Given the description of an element on the screen output the (x, y) to click on. 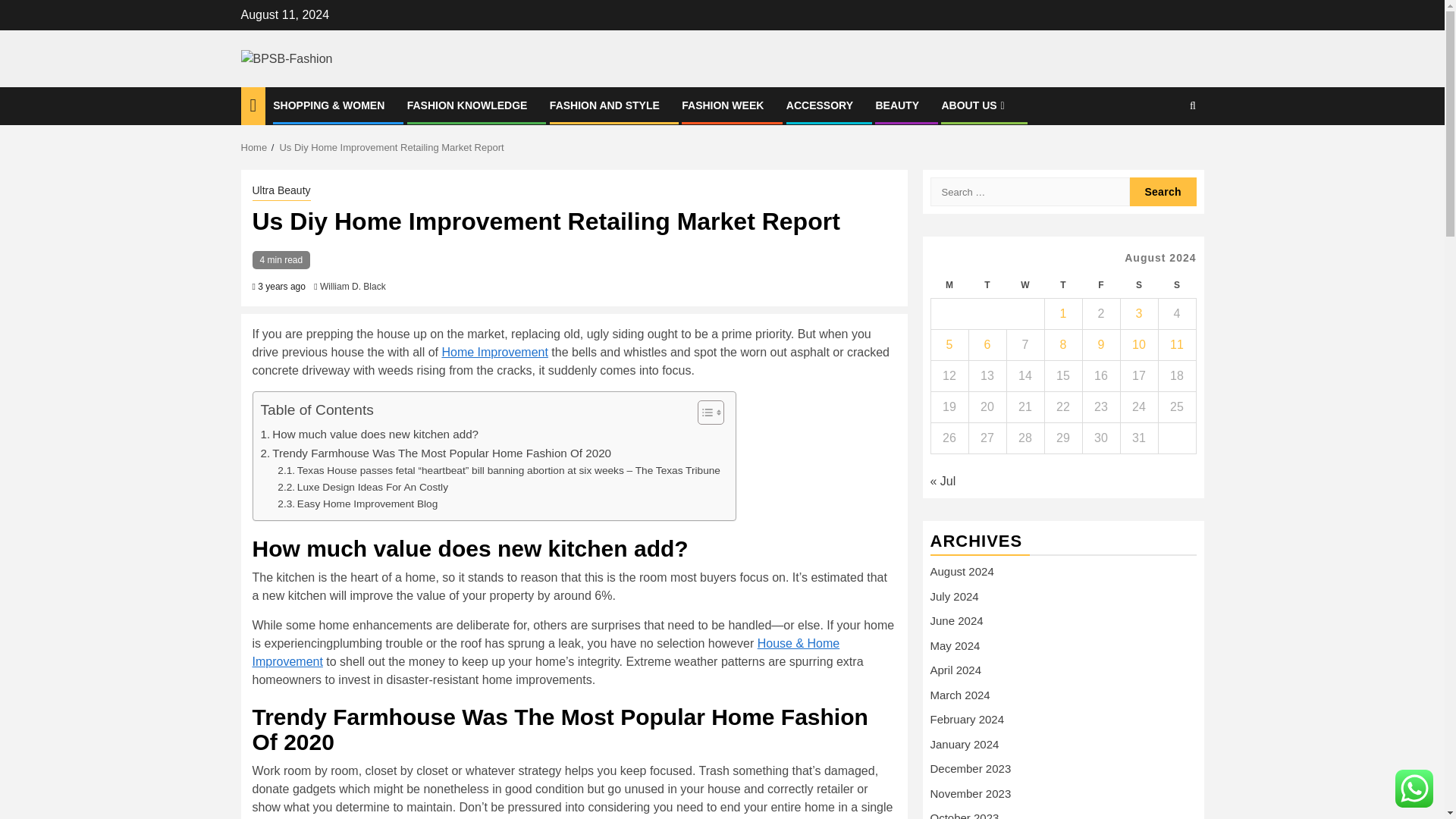
ABOUT US (973, 105)
Easy Home Improvement Blog (358, 504)
Easy Home Improvement Blog (358, 504)
FASHION WEEK (721, 105)
Thursday (1062, 284)
Luxe Design Ideas For An Costly (363, 487)
Tuesday (987, 284)
Trendy Farmhouse Was The Most Popular Home Fashion Of 2020 (435, 453)
FASHION AND STYLE (604, 105)
Search (1162, 191)
